Given the description of an element on the screen output the (x, y) to click on. 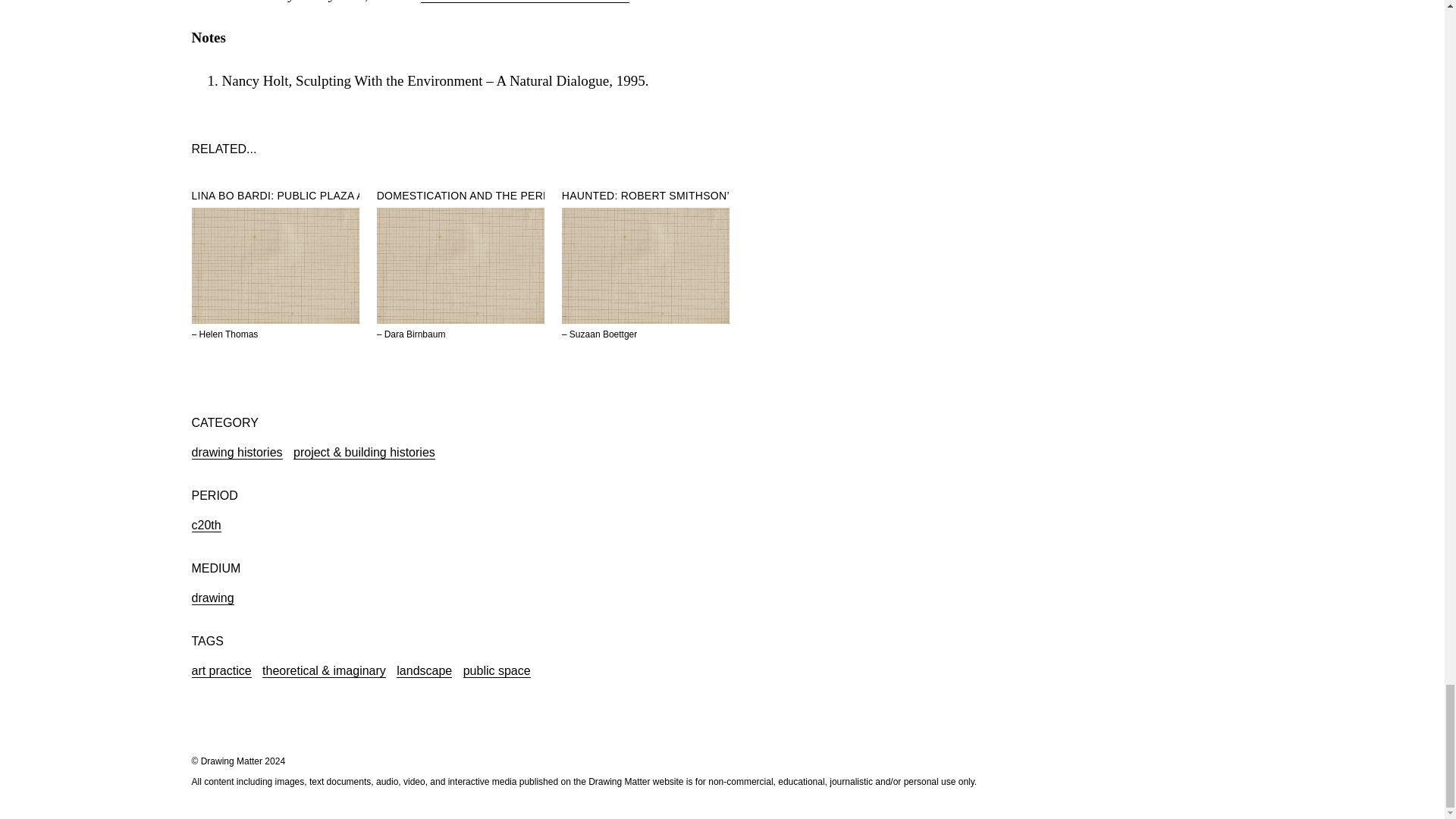
drawing (211, 598)
Dara Birnbaum (414, 334)
DOMESTICATION AND THE PERMUTATION OF INTERRUPTION (539, 195)
art practice (220, 671)
Helen Thomas (229, 334)
landscape (423, 671)
public space (497, 671)
Suzaan Boettger (603, 334)
c20th (205, 525)
drawing histories (236, 452)
